Given the description of an element on the screen output the (x, y) to click on. 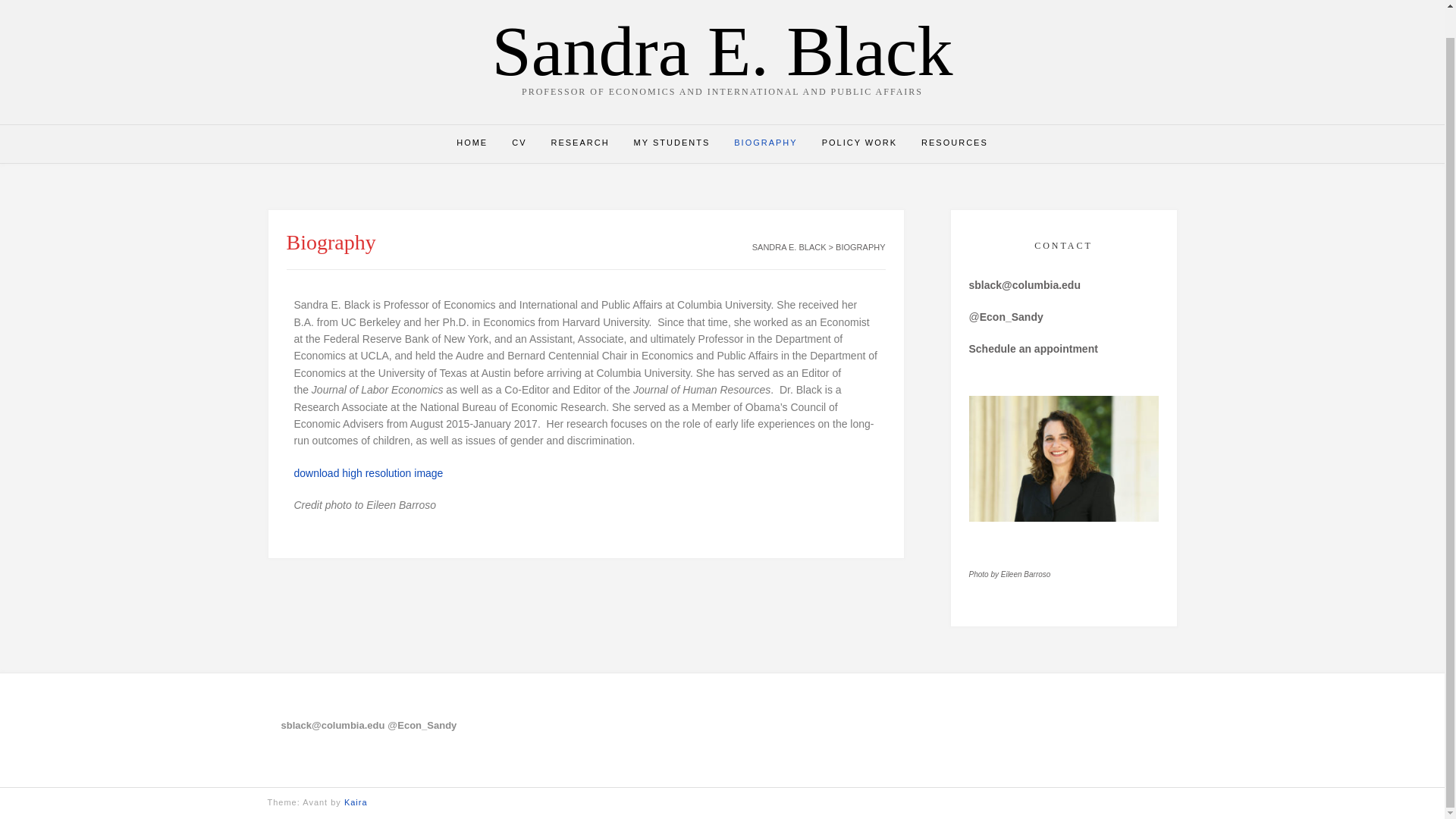
Sandra E. Black (722, 50)
Sandra E. Black (722, 50)
BIOGRAPHY (765, 143)
Kaira (355, 801)
SANDRA E. BLACK (789, 246)
CV (518, 143)
Schedule an appointment (1033, 348)
download high resolution image (369, 472)
MY STUDENTS (671, 143)
RESOURCES (954, 143)
